Given the description of an element on the screen output the (x, y) to click on. 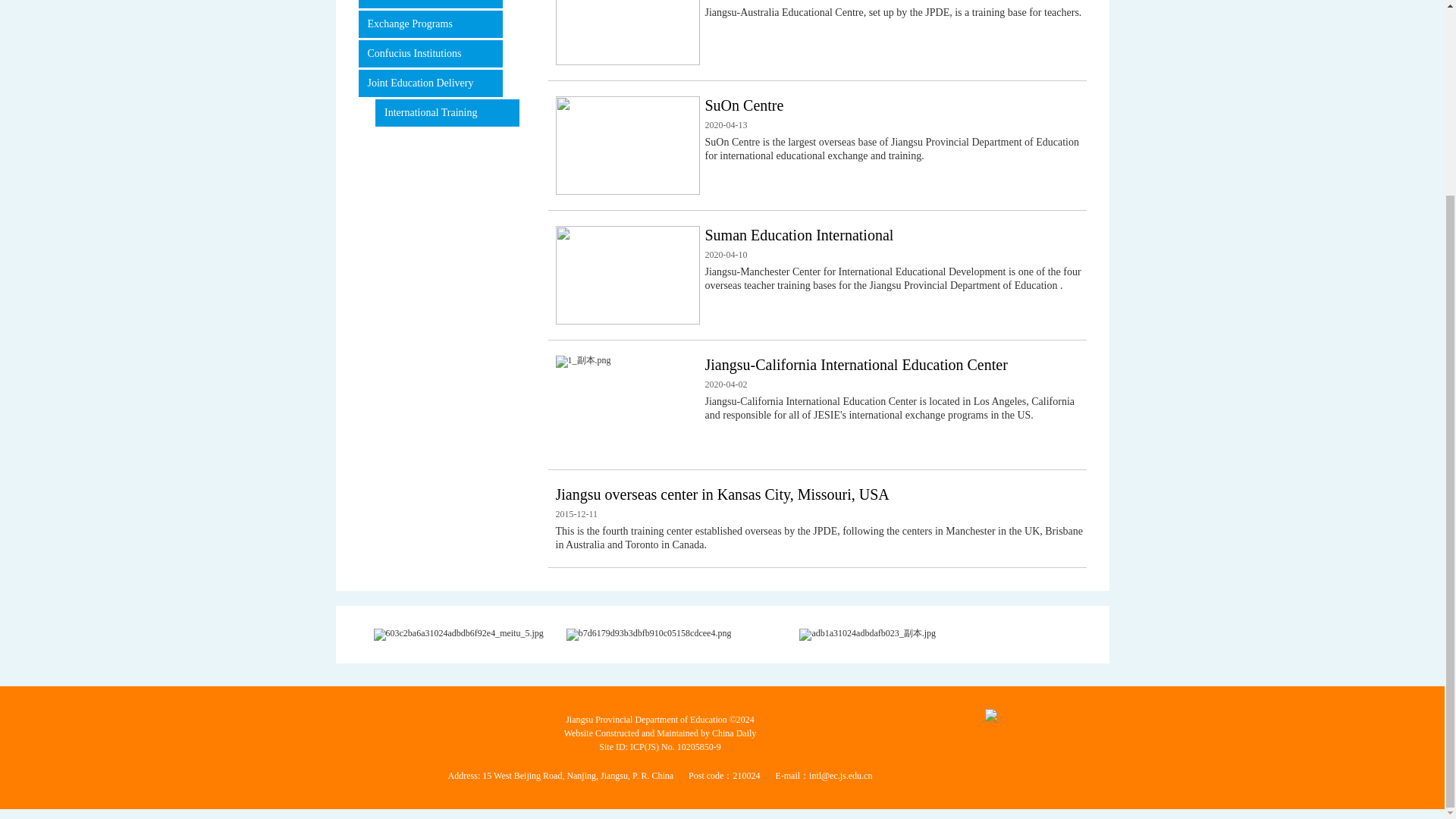
Teach in Jiangsu (430, 4)
Joint Education Delivery (430, 83)
International Training (447, 112)
Exchange Programs (430, 23)
Confucius Institutions (430, 53)
